Given the description of an element on the screen output the (x, y) to click on. 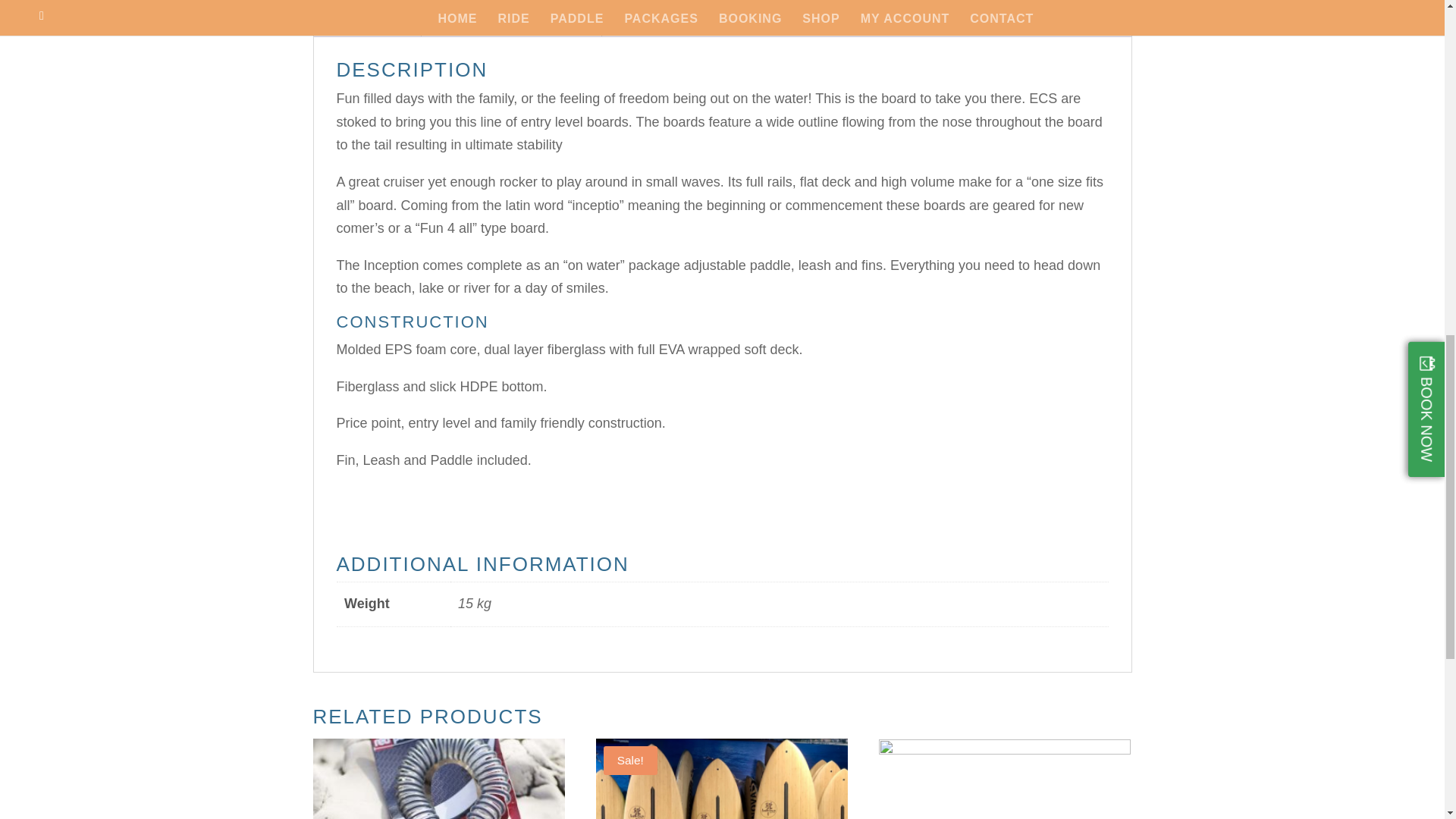
Additional information (511, 23)
Description (366, 23)
FareHarbor (1342, 64)
